Given the description of an element on the screen output the (x, y) to click on. 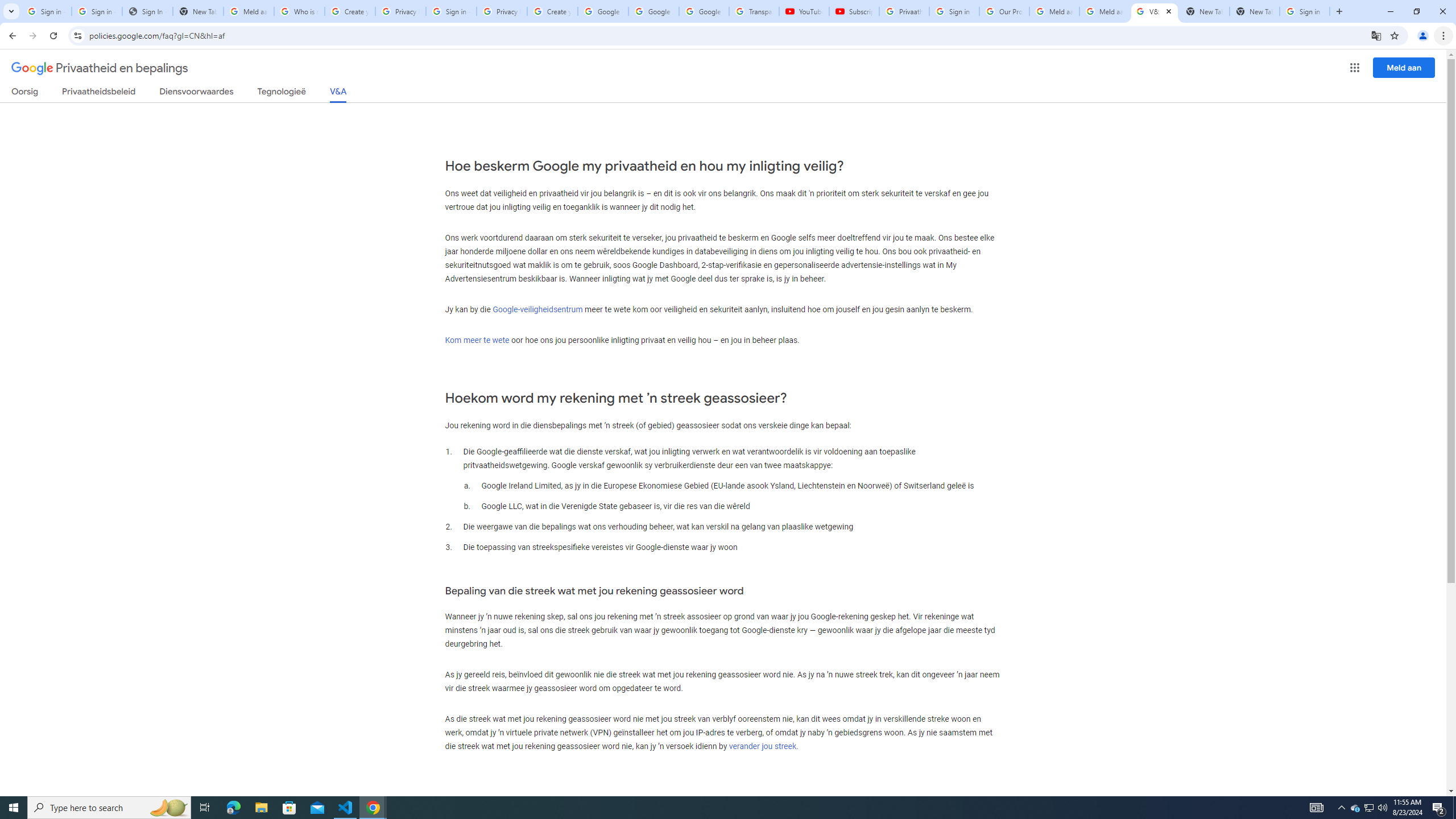
V&A (337, 94)
Sign in - Google Accounts (954, 11)
Sign in - Google Accounts (450, 11)
Google-veiligheidsentrum (537, 309)
Create your Google Account (350, 11)
Translate this page (1376, 35)
